Given the description of an element on the screen output the (x, y) to click on. 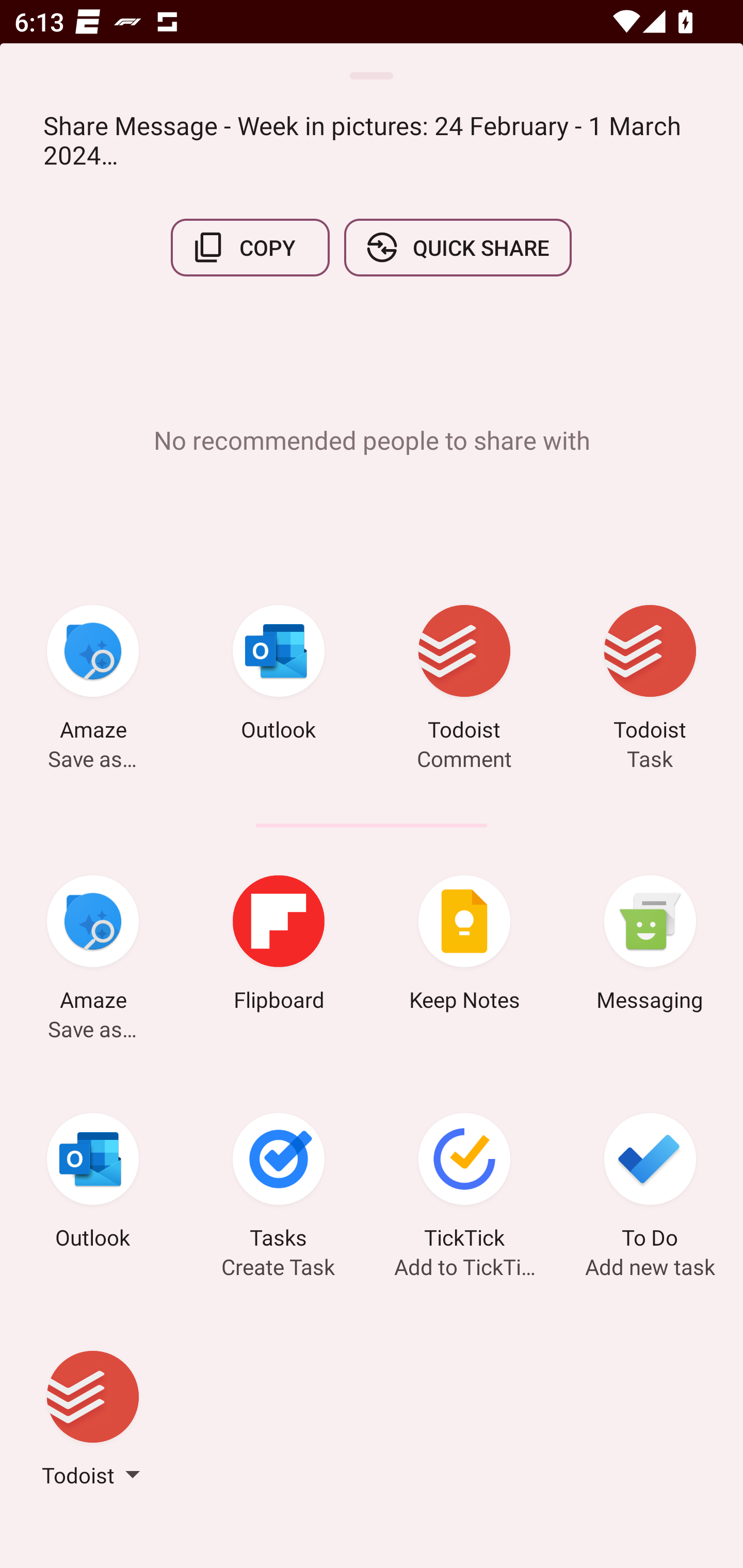
COPY (249, 247)
QUICK SHARE (457, 247)
Amaze Save as… (92, 675)
Outlook (278, 675)
Todoist Comment (464, 675)
Todoist Task (650, 675)
Amaze Save as… (92, 945)
Flipboard (278, 945)
Keep Notes (464, 945)
Messaging (650, 945)
Outlook (92, 1183)
Tasks Create Task (278, 1183)
TickTick Add to TickTick (464, 1183)
To Do Add new task (650, 1183)
Todoist (92, 1422)
